Given the description of an element on the screen output the (x, y) to click on. 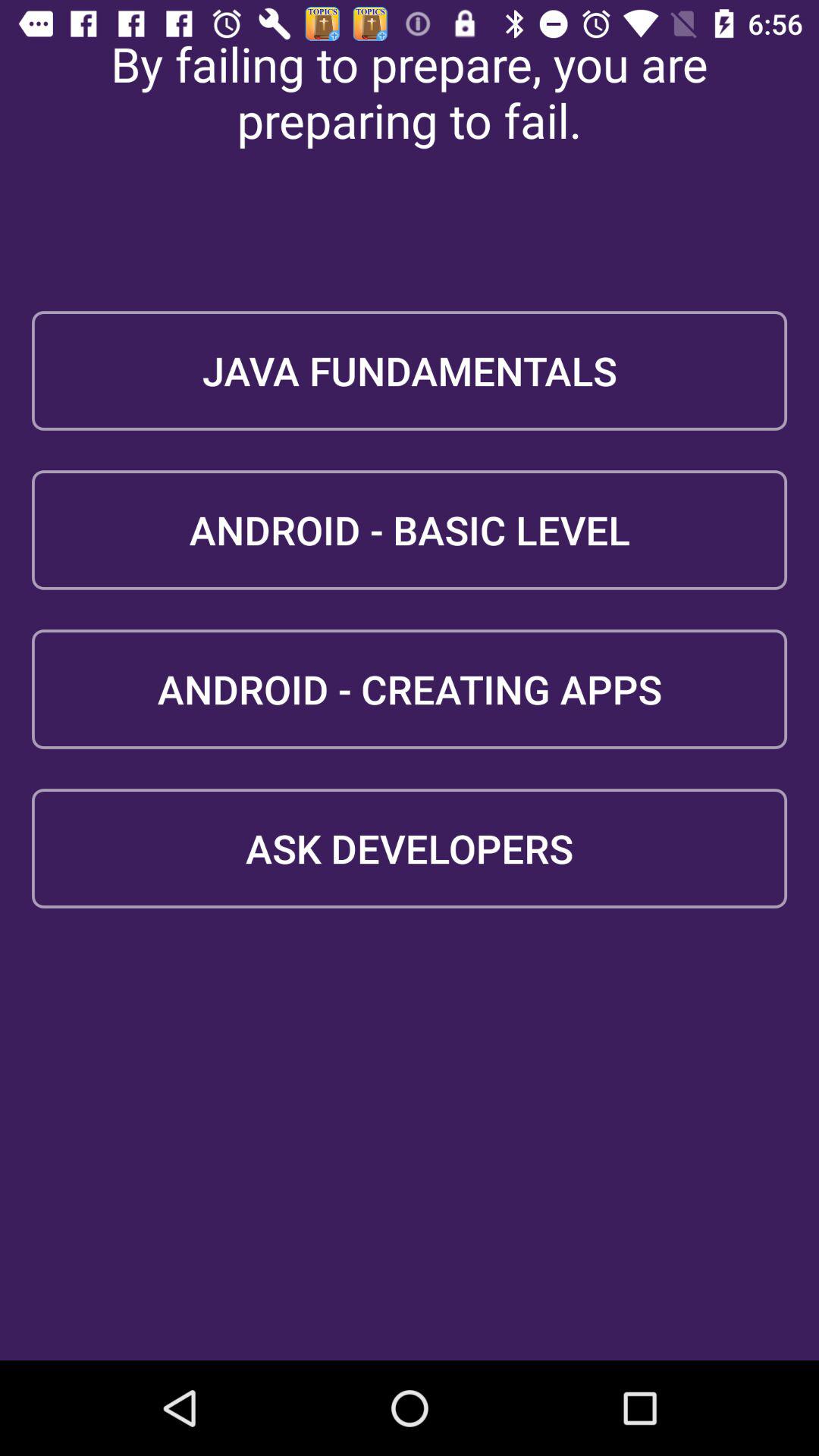
choose the ask developers (409, 848)
